Given the description of an element on the screen output the (x, y) to click on. 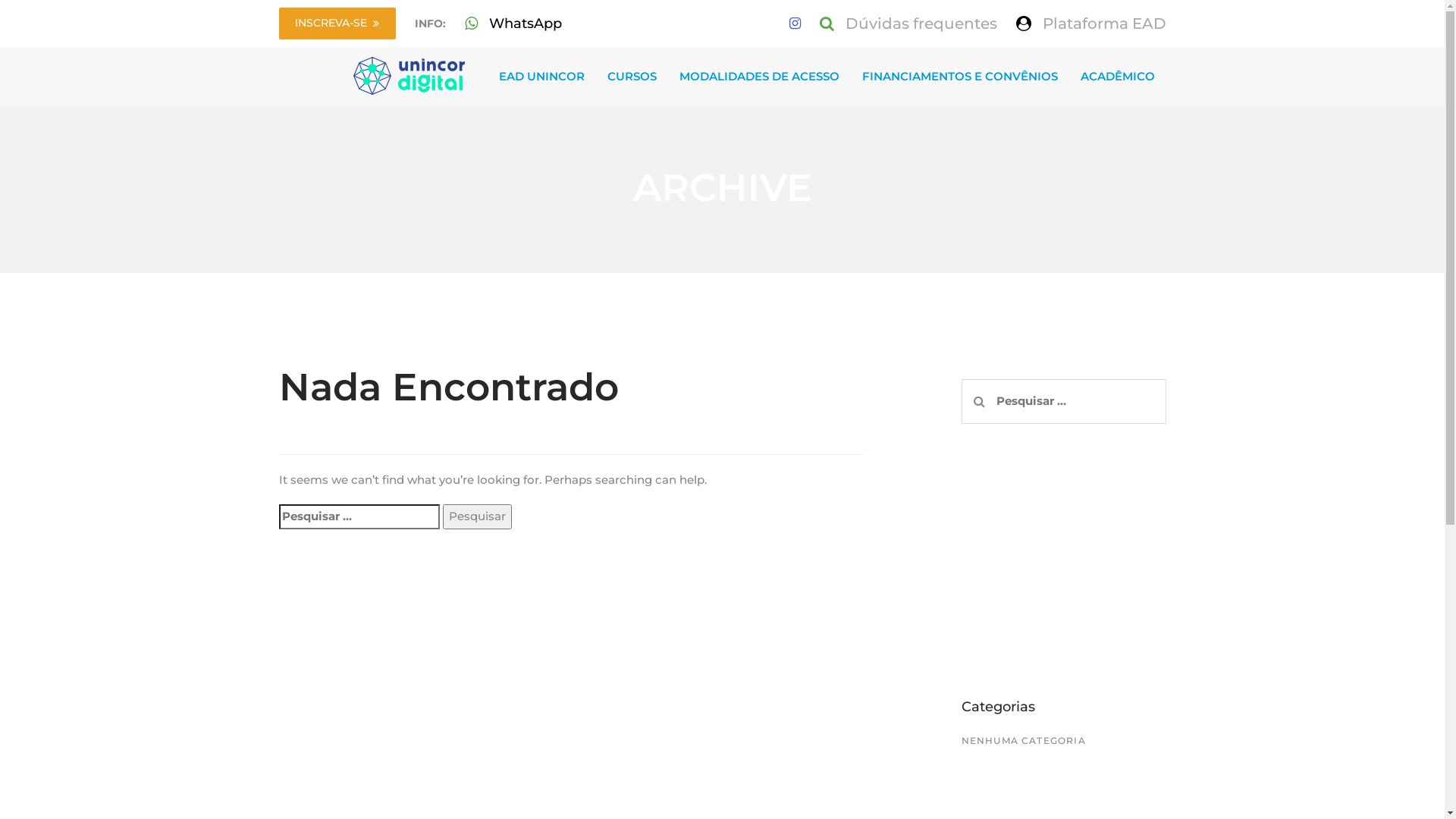
CURSOS Element type: text (632, 76)
MODALIDADES DE ACESSO Element type: text (758, 76)
Pesquisar Element type: text (979, 401)
Plataforma EAD Element type: text (1103, 23)
WhatsApp Element type: text (524, 23)
EAD UNINCOR Element type: text (540, 76)
Pesquisar Element type: text (476, 516)
INSCREVA-SE Element type: text (337, 23)
